Given the description of an element on the screen output the (x, y) to click on. 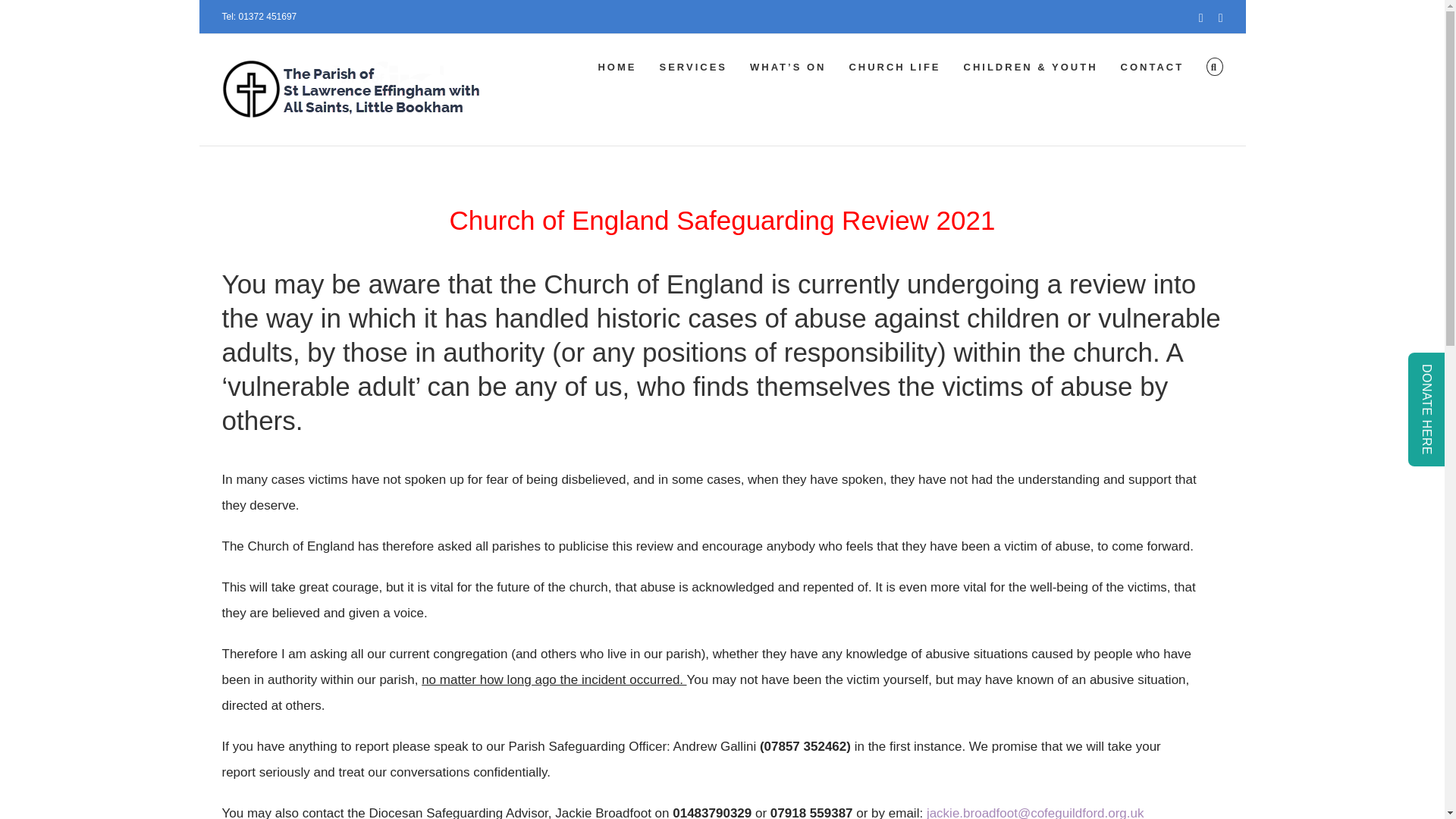
Twitter (1220, 18)
SERVICES (692, 66)
Facebook (1201, 18)
Twitter (1220, 18)
Facebook (1201, 18)
CHURCH LIFE (894, 66)
Search (1215, 66)
HOME (616, 66)
